Given the description of an element on the screen output the (x, y) to click on. 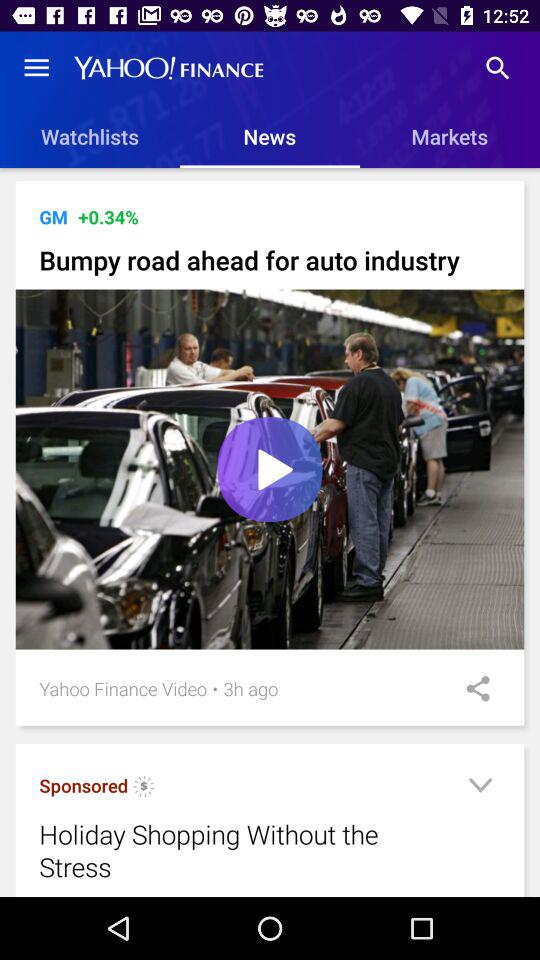
press item to the right of sponsored (143, 788)
